Given the description of an element on the screen output the (x, y) to click on. 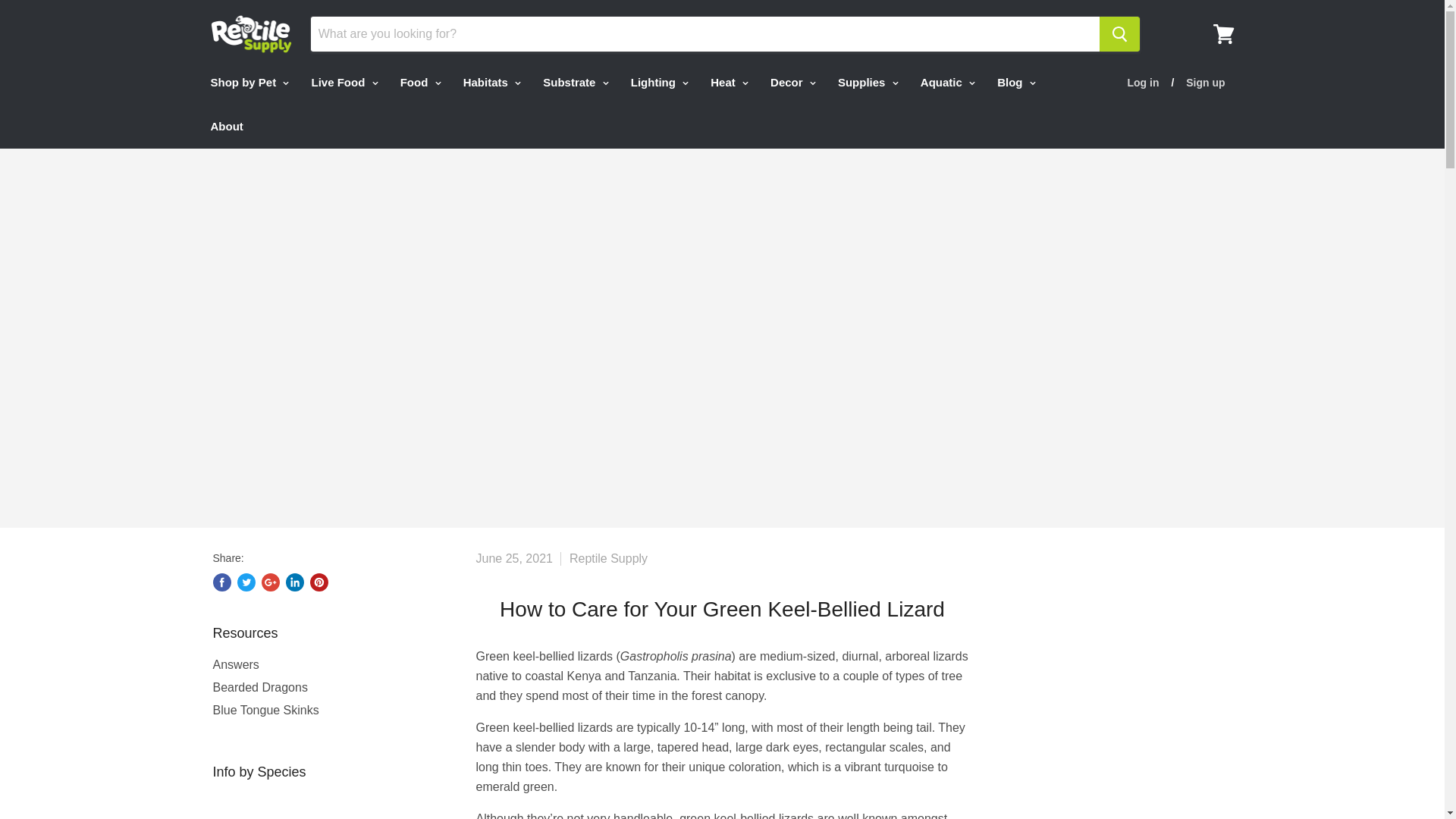
Shop by Pet (247, 82)
Live Food (342, 82)
View cart (1223, 33)
